Given the description of an element on the screen output the (x, y) to click on. 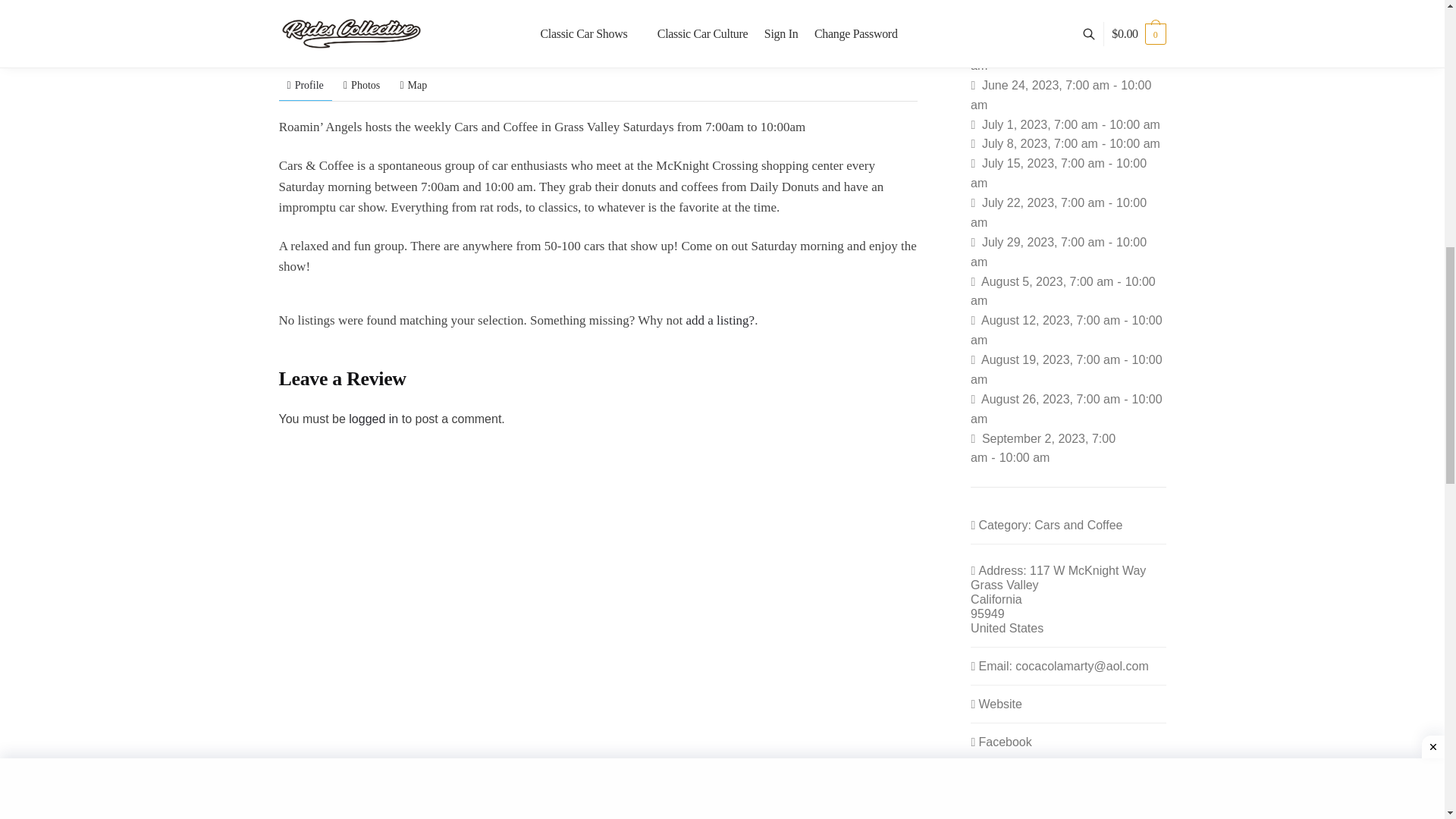
Profile (305, 85)
Cars and Coffee (407, 30)
Advertisement (721, 5)
